Given the description of an element on the screen output the (x, y) to click on. 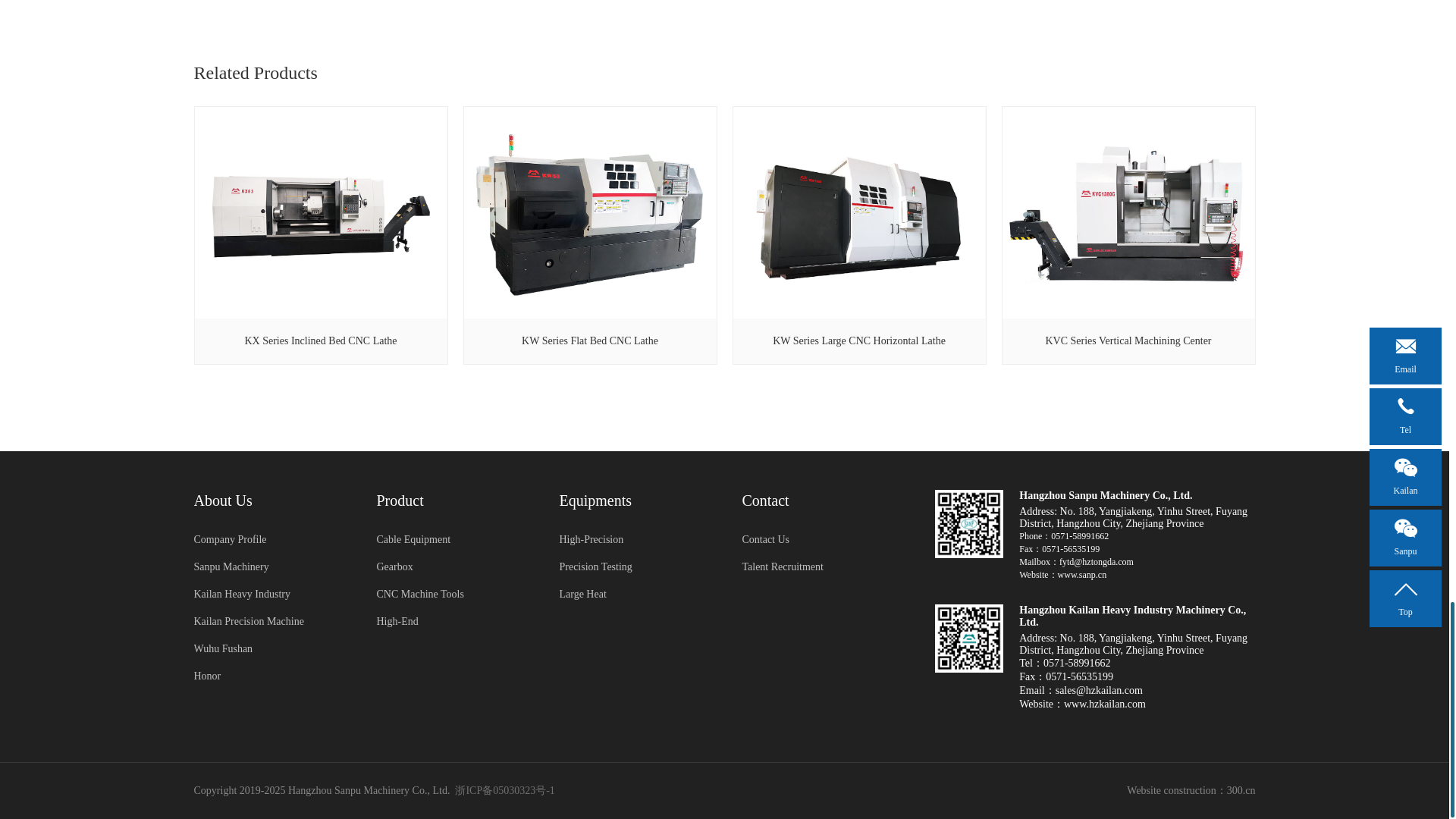
KVC series vertical machining center (1129, 216)
Hangzhou Sanpu Machinery Co., Ltd. (968, 638)
KW series flat bed CNC lathe (590, 216)
KW Series Large CNC Horizontal Lathe (859, 235)
KX Series Inclined Bed CNC Lathe (320, 235)
Hangzhou Sanpu Machinery Co., Ltd. (968, 523)
KX series inclined bed CNC lathe (319, 216)
KW series large CNC horizontal lathe (858, 216)
KW Series Flat Bed CNC Lathe (589, 235)
